Given the description of an element on the screen output the (x, y) to click on. 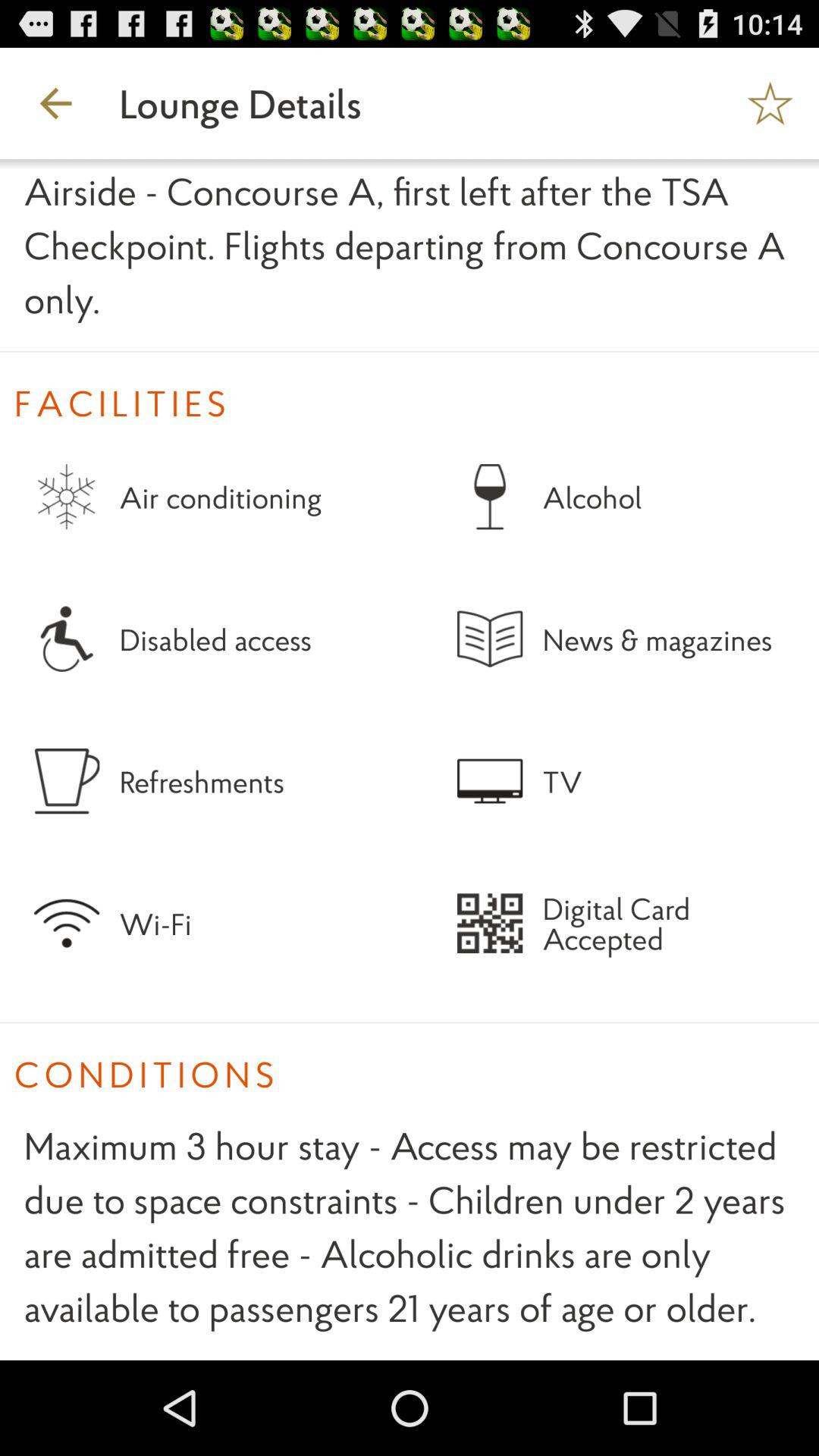
select the icon to the left of the lounge details icon (55, 103)
